Given the description of an element on the screen output the (x, y) to click on. 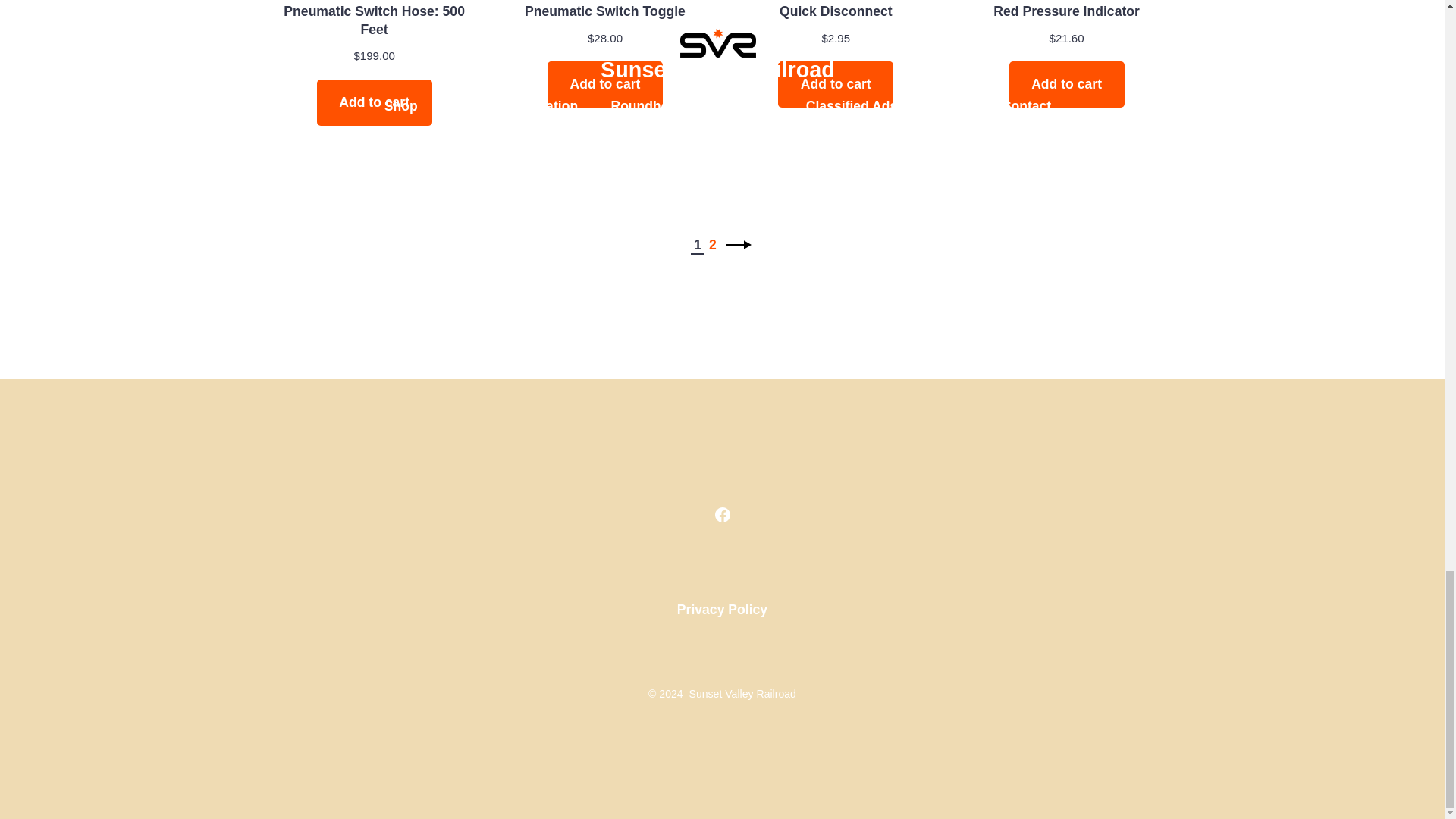
Add to cart (374, 102)
